Given the description of an element on the screen output the (x, y) to click on. 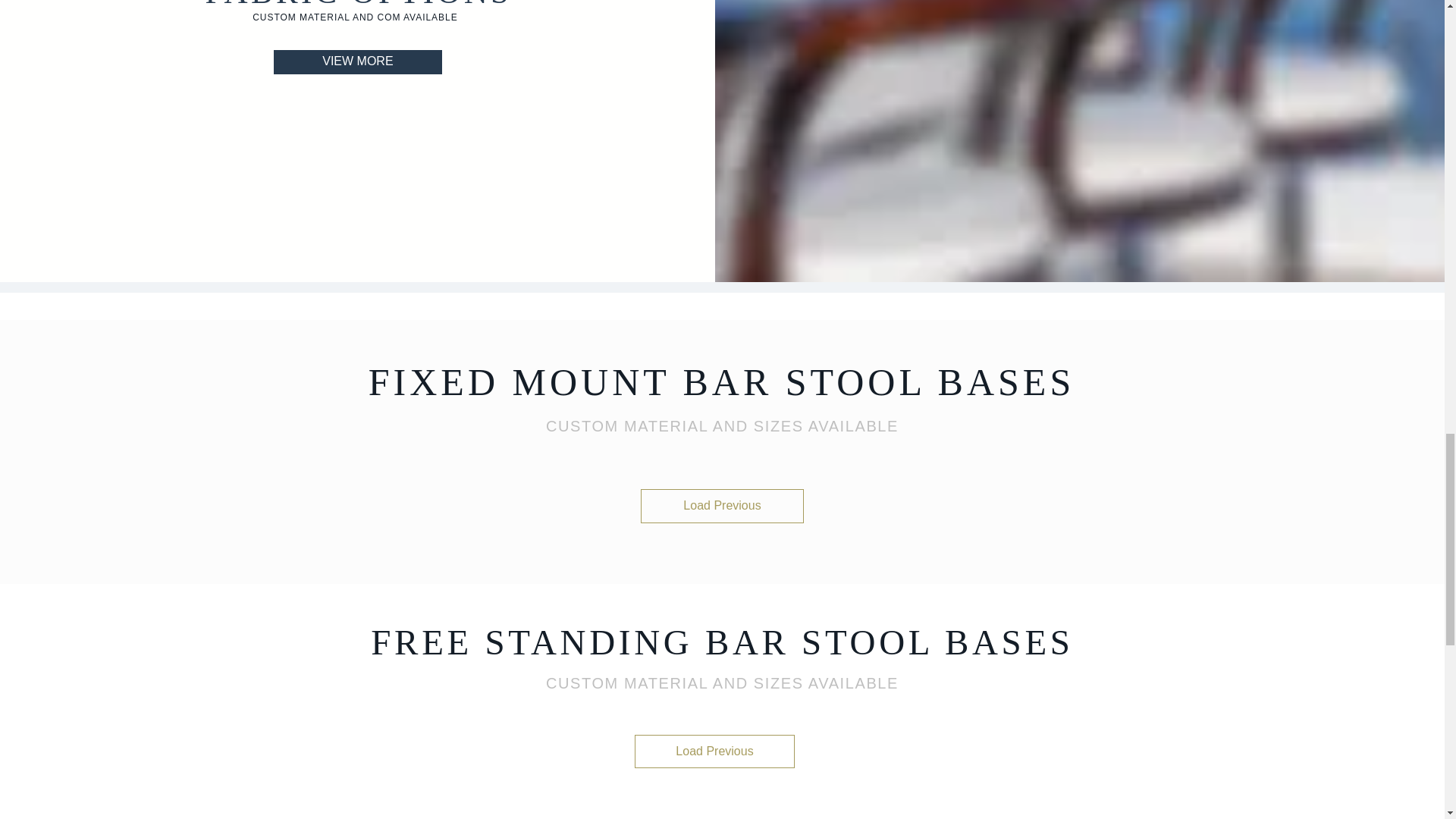
Load Previous (722, 505)
Load Previous (714, 751)
VIEW MORE (357, 61)
